Given the description of an element on the screen output the (x, y) to click on. 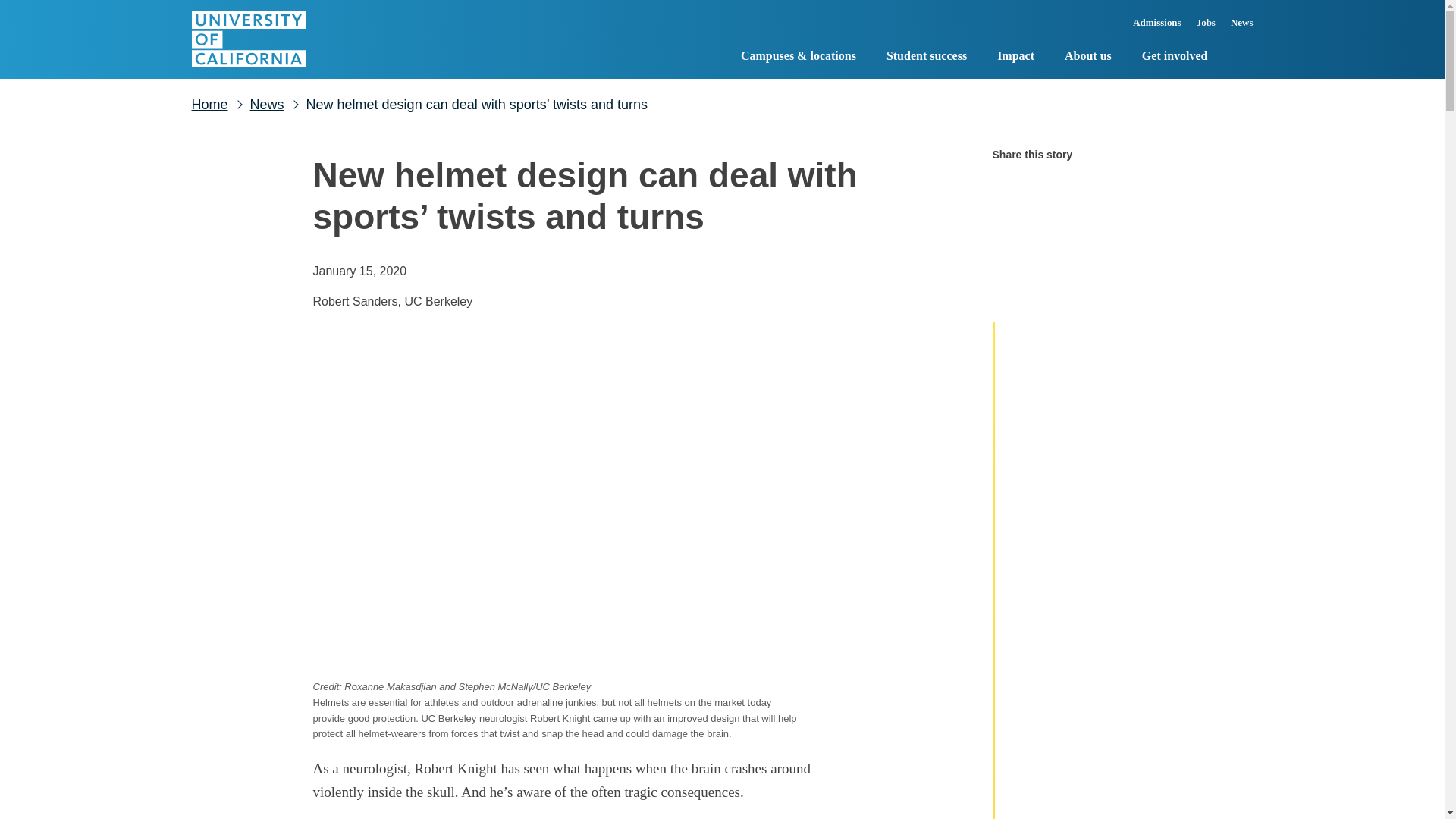
Home (247, 39)
Student success (926, 58)
Admissions (1157, 26)
Impact (1015, 58)
Jobs (1206, 26)
About us (1088, 58)
Search (1241, 56)
Search (1241, 56)
Admissions (1157, 26)
